Given the description of an element on the screen output the (x, y) to click on. 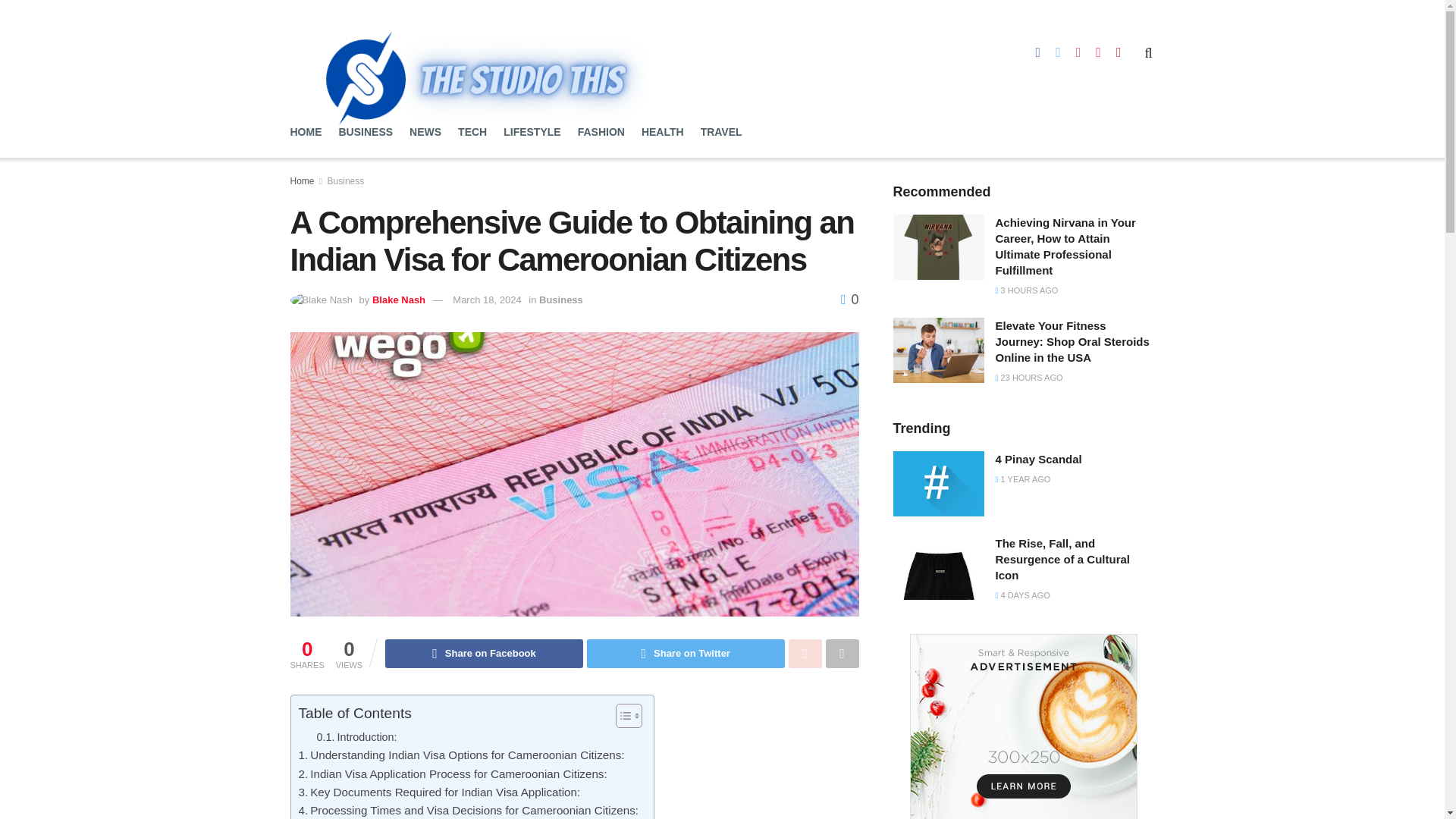
Indian Visa Application Process for Cameroonian Citizens: (452, 773)
Key Documents Required for Indian Visa Application: (439, 791)
FASHION (601, 132)
Business (346, 181)
Share on Twitter (685, 653)
March 18, 2024 (486, 299)
0 (850, 299)
Business (560, 299)
Blake Nash (398, 299)
LIFESTYLE (531, 132)
